Given the description of an element on the screen output the (x, y) to click on. 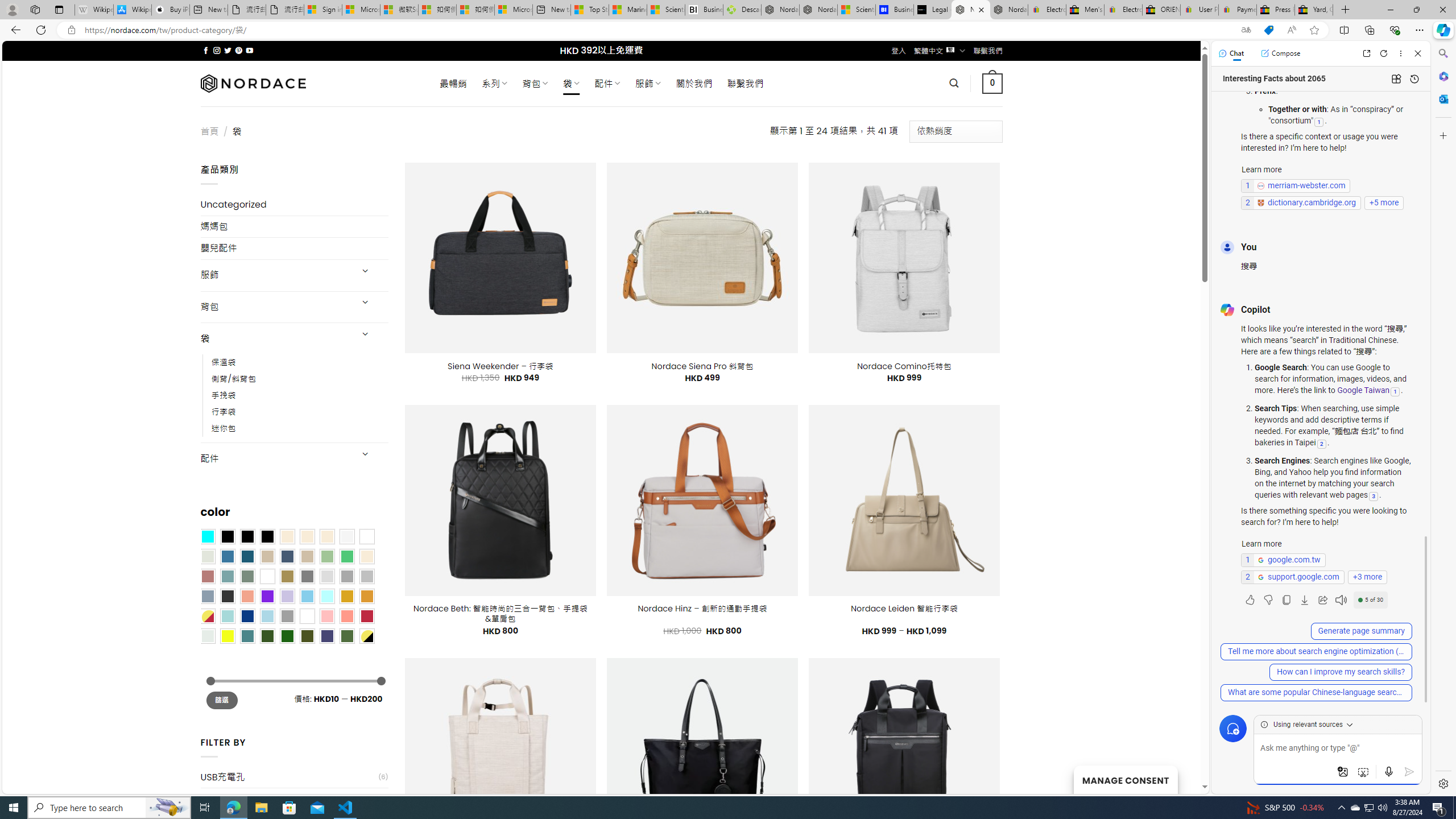
Descarga Driver Updater (741, 9)
Follow on Pinterest (237, 50)
